Given the description of an element on the screen output the (x, y) to click on. 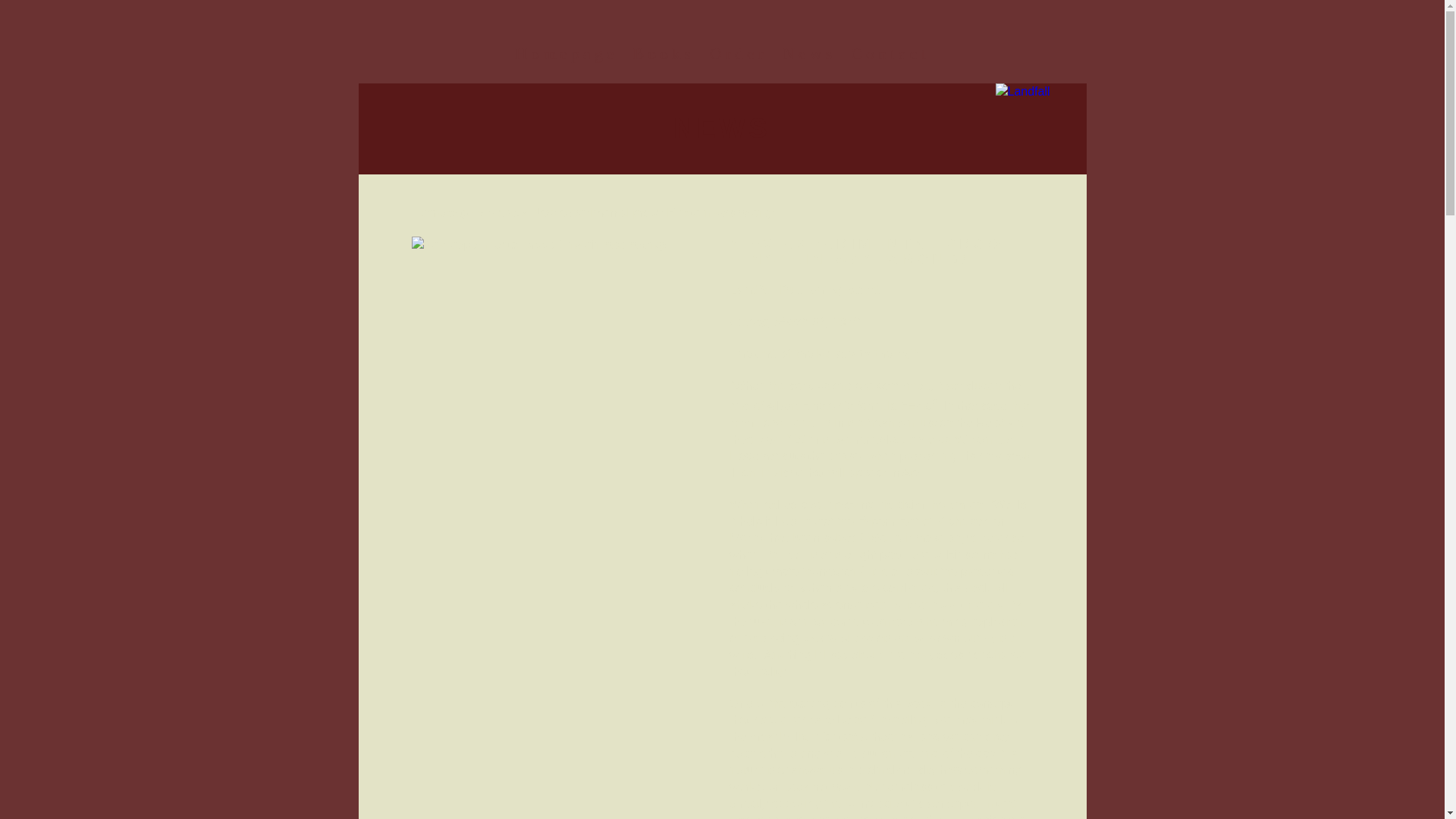
Books (663, 53)
New experimental proof: Einstein was wrong! (562, 244)
Homepage (565, 53)
Order (737, 53)
Contact (889, 53)
Homepage (441, 212)
News (502, 212)
Landfall (1040, 128)
News (808, 53)
